Given the description of an element on the screen output the (x, y) to click on. 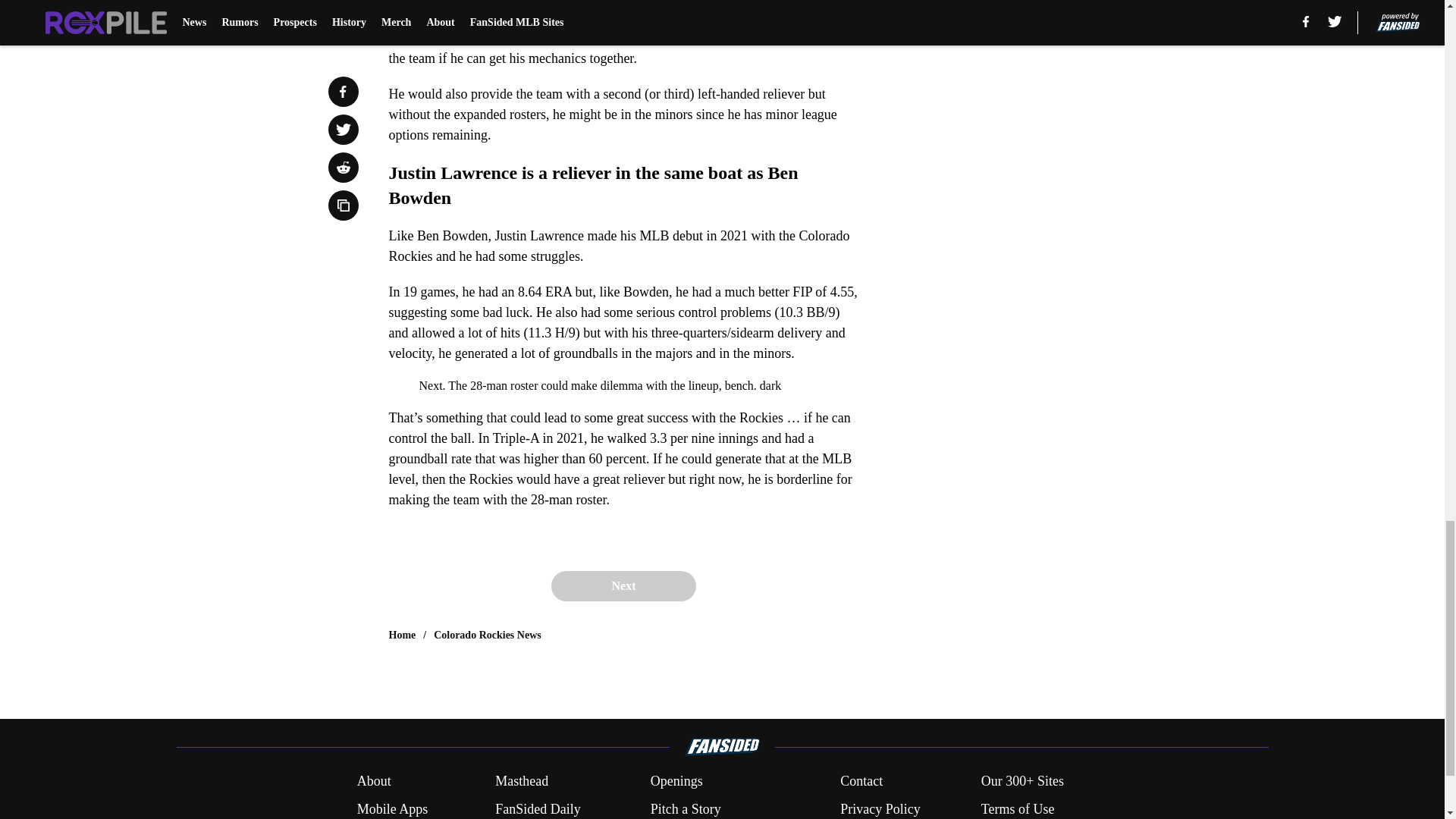
Colorado Rockies News (487, 635)
Openings (676, 781)
Contact (861, 781)
Terms of Use (1017, 809)
Privacy Policy (880, 809)
Home (401, 635)
FanSided Daily (537, 809)
Masthead (521, 781)
Mobile Apps (392, 809)
Next (622, 585)
